Given the description of an element on the screen output the (x, y) to click on. 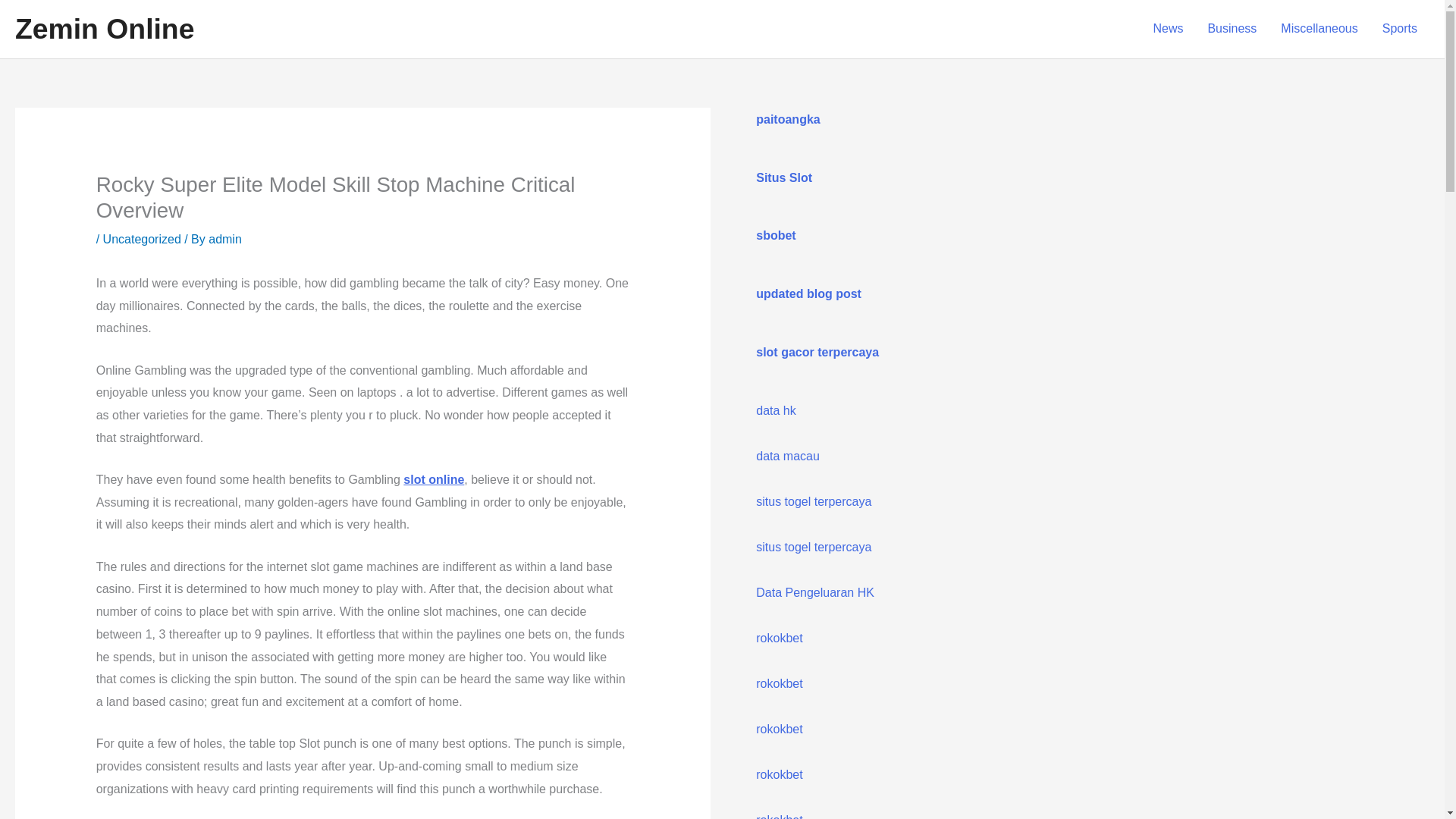
data hk (774, 410)
Business (1231, 28)
Uncategorized (141, 238)
paitoangka (787, 119)
rokokbet (778, 728)
data macau (787, 455)
rokokbet (778, 637)
situs togel terpercaya (812, 546)
View all posts by admin (224, 238)
Sports (1399, 28)
sbobet (774, 235)
Miscellaneous (1319, 28)
situs togel terpercaya (812, 501)
rokokbet (778, 816)
slot gacor terpercaya (817, 351)
